Given the description of an element on the screen output the (x, y) to click on. 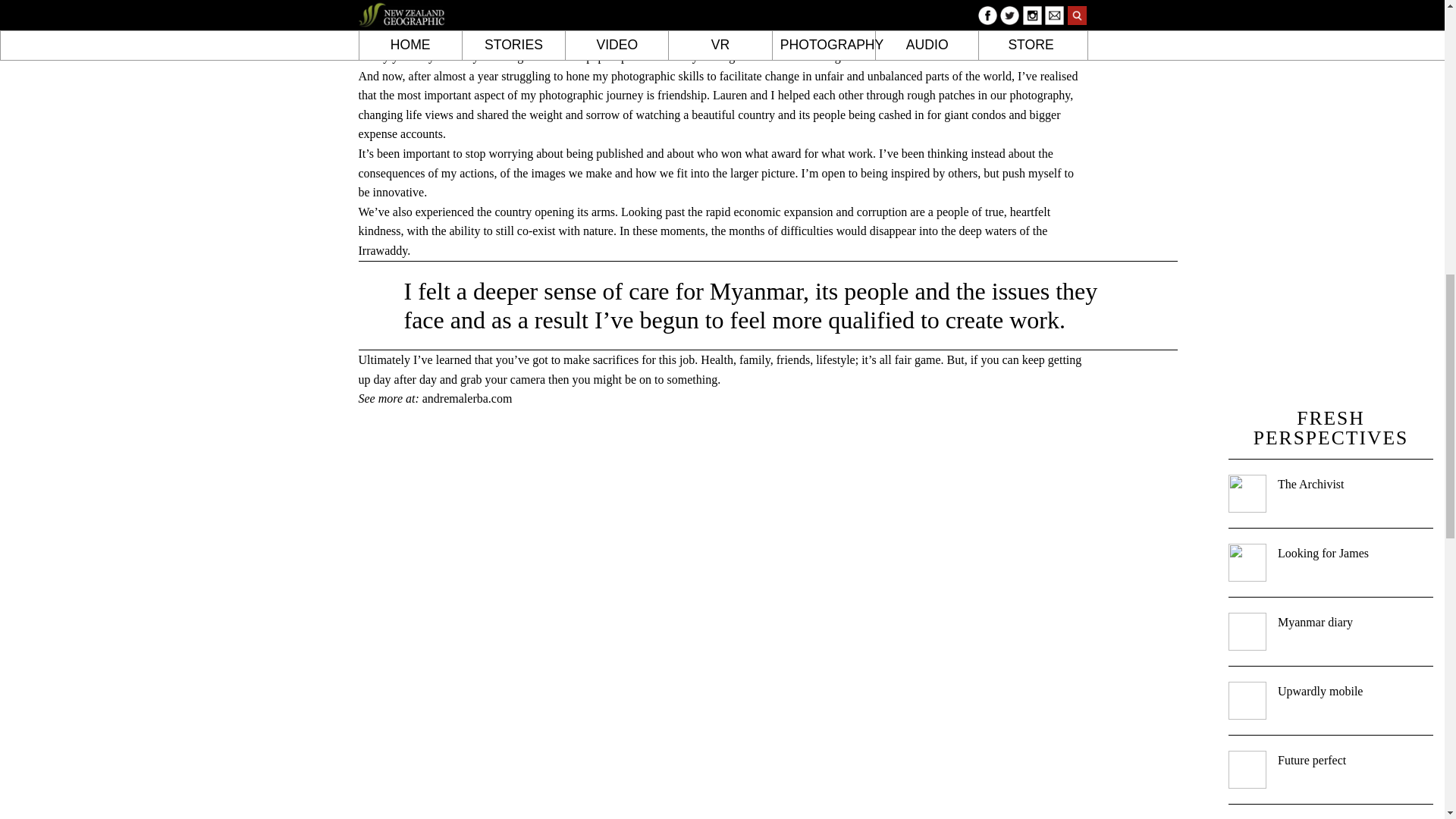
andremalerba.com (467, 398)
Looking for James (1323, 553)
Myanmar diary (1315, 621)
Upwardly mobile (1320, 690)
The Archivist (1310, 483)
